Given the description of an element on the screen output the (x, y) to click on. 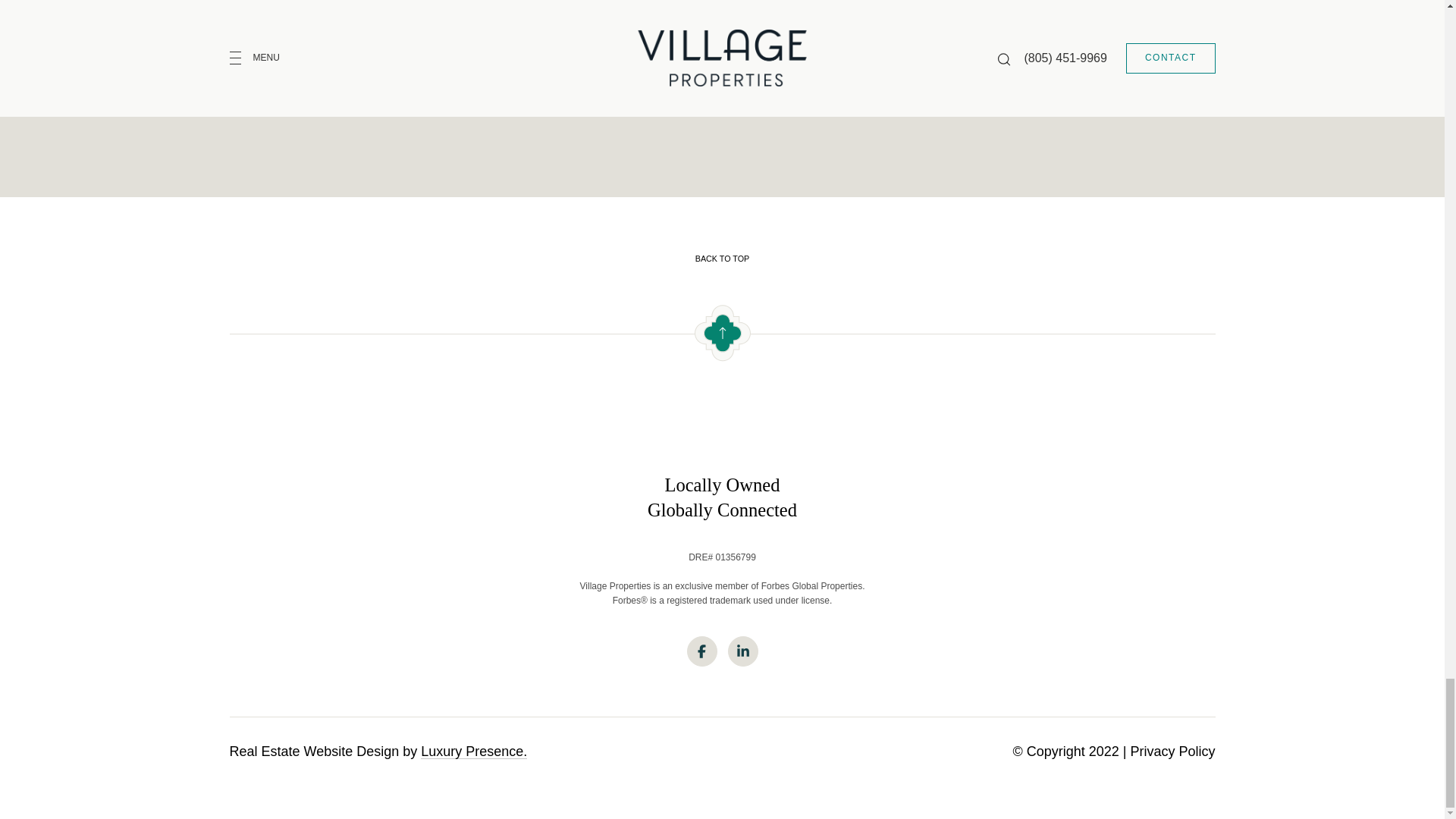
on (488, 16)
Luxury Presence. (473, 751)
Privacy Policy (911, 15)
Privacy Policy (1171, 751)
BACK TO TOP (721, 258)
SUBSCRIBE NOW! (820, 88)
